Given the description of an element on the screen output the (x, y) to click on. 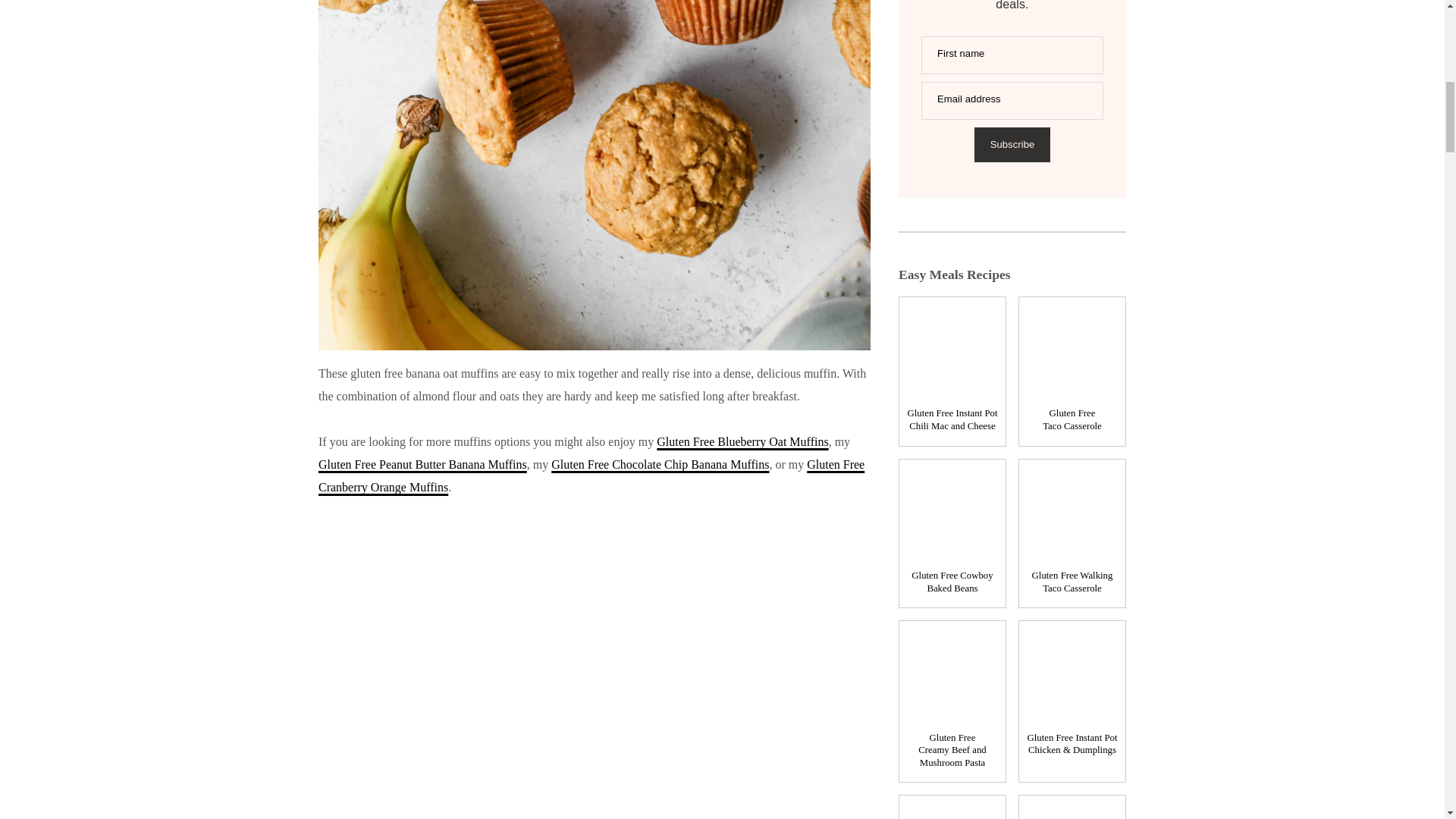
Gluten Free Peanut Butter Banana Muffins (422, 463)
Gluten Free Blueberry Oat Muffins (742, 440)
Gluten Free Chocolate Chip Banana Muffins (659, 463)
